Given the description of an element on the screen output the (x, y) to click on. 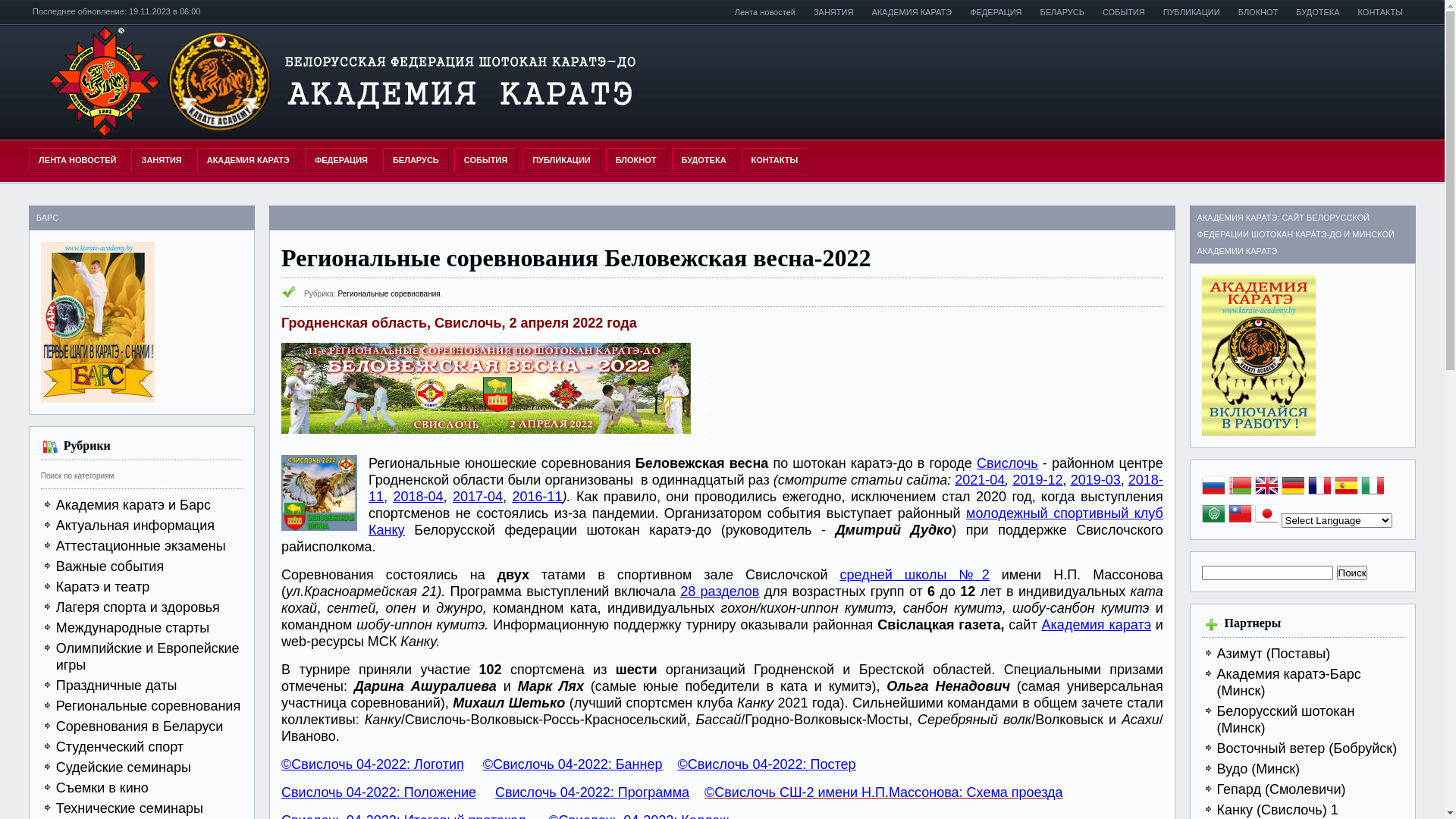
Italian Element type: hover (1372, 487)
2018-04 Element type: text (418, 496)
2021-04 Element type: text (979, 479)
English Element type: hover (1266, 487)
French Element type: hover (1319, 487)
Chinese (Traditional) Element type: hover (1239, 515)
German Element type: hover (1292, 487)
2019-12 Element type: text (1037, 479)
Russian Element type: hover (1212, 487)
2017-04 Element type: text (477, 496)
Japanese Element type: hover (1266, 515)
Spanish Element type: hover (1345, 487)
Belarusian Element type: hover (1239, 487)
2016-11 Element type: text (537, 496)
2019-03 Element type: text (1095, 479)
2018-11 Element type: text (765, 488)
Arabic Element type: hover (1212, 515)
